Given the description of an element on the screen output the (x, y) to click on. 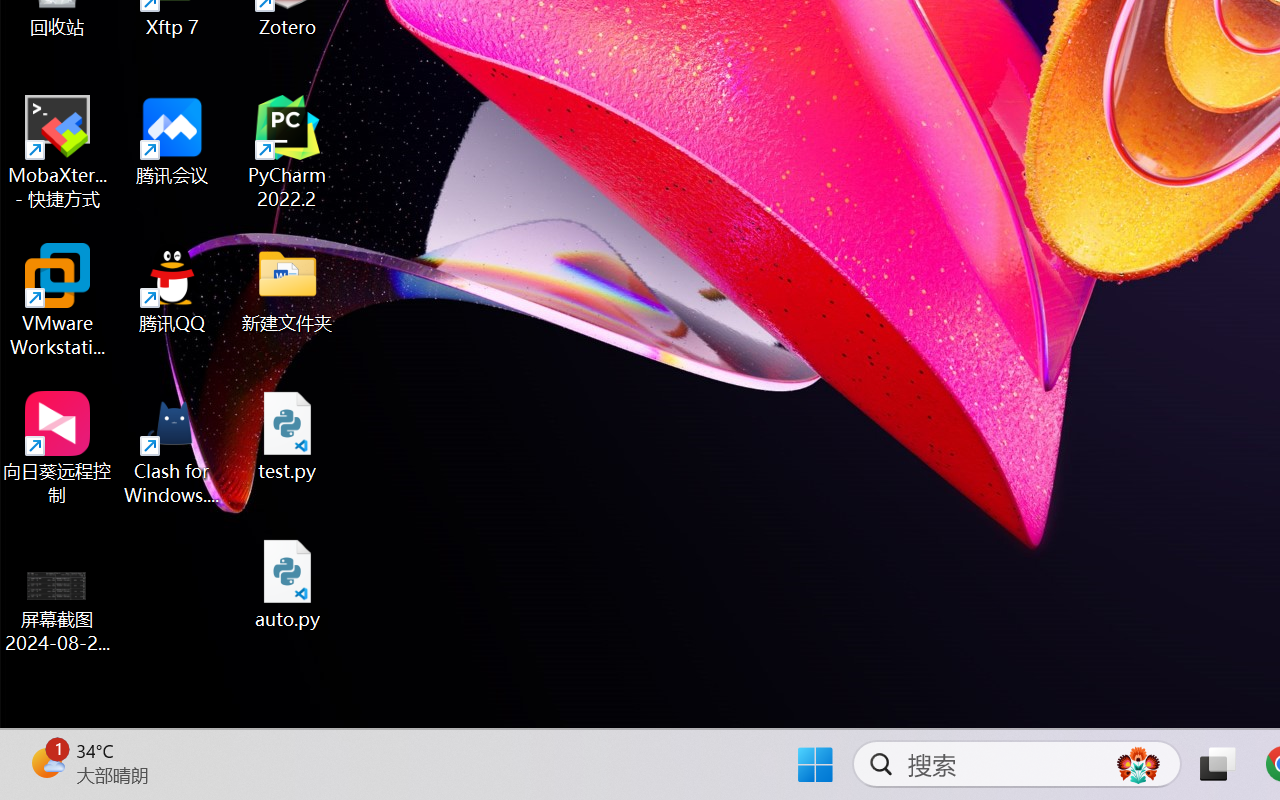
auto.py (287, 584)
